Given the description of an element on the screen output the (x, y) to click on. 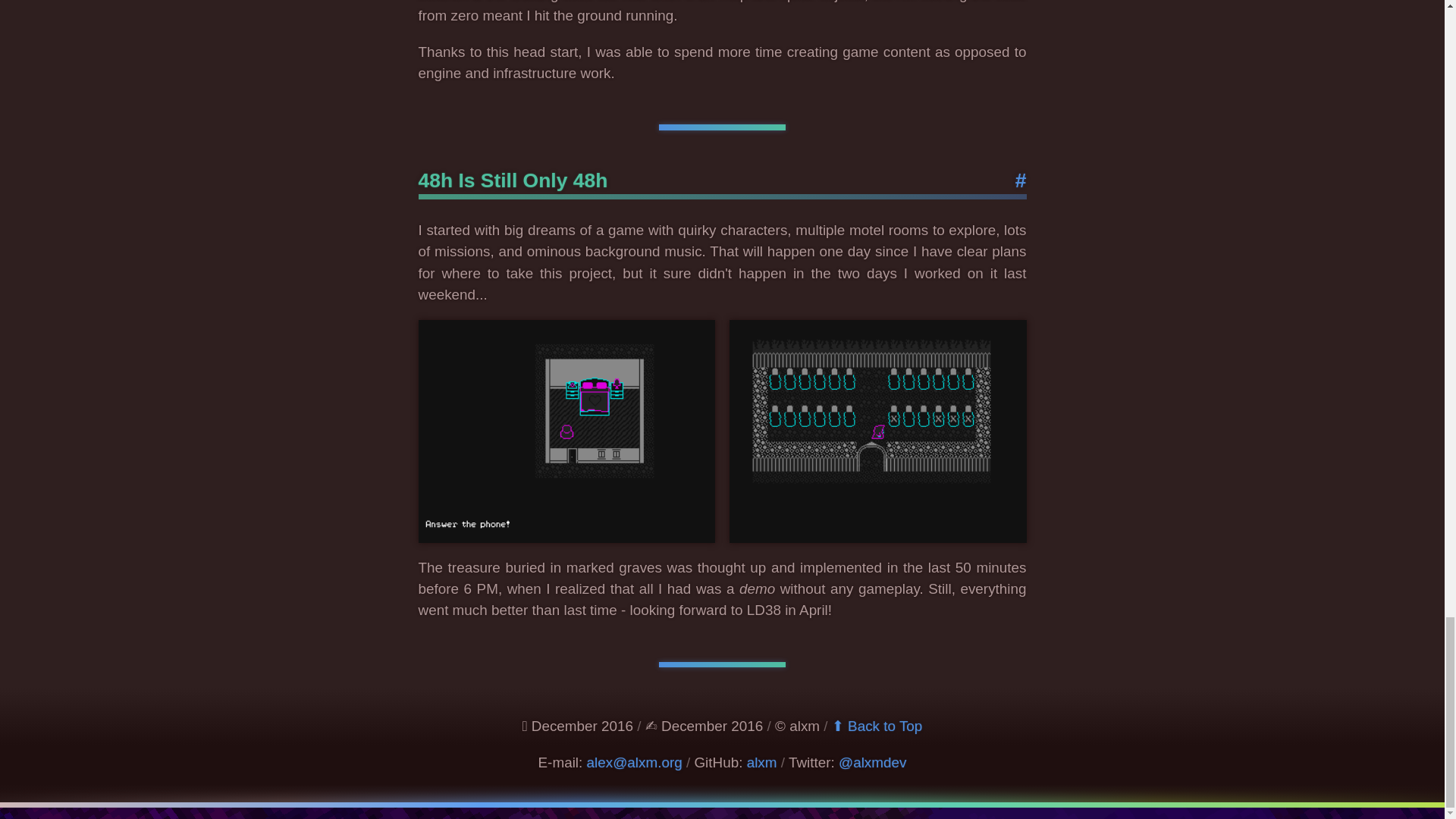
alxm (761, 762)
Motel 37 screenshot (567, 431)
Motel 37 screenshot (877, 431)
